Given the description of an element on the screen output the (x, y) to click on. 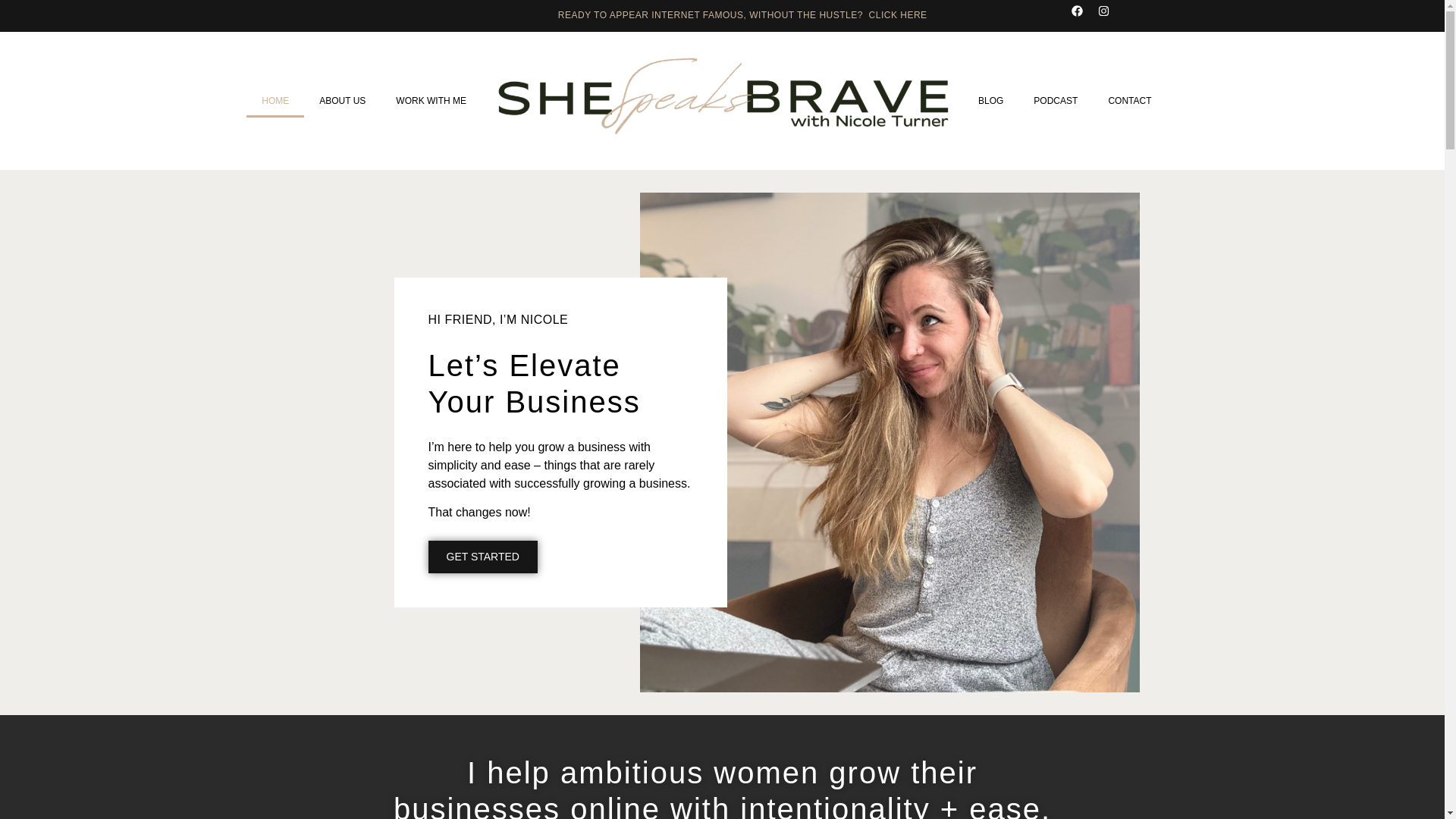
ABOUT US (342, 101)
CONTACT (1129, 101)
HOME (275, 101)
PODCAST (1055, 101)
WORK WITH ME (430, 101)
GET STARTED (482, 557)
BLOG (989, 101)
